Given the description of an element on the screen output the (x, y) to click on. 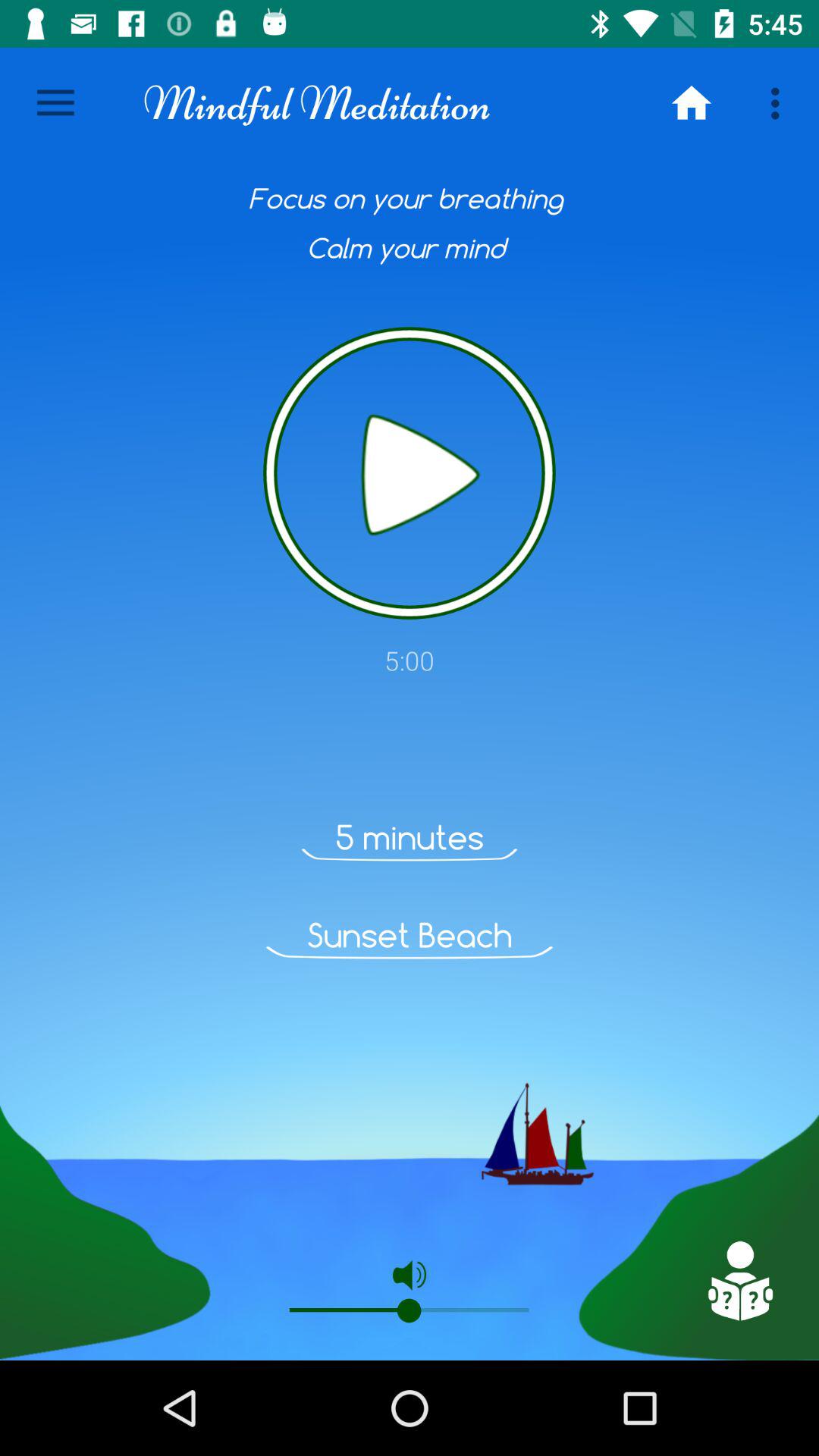
launch the item above the   sunset beach   item (409, 837)
